Given the description of an element on the screen output the (x, y) to click on. 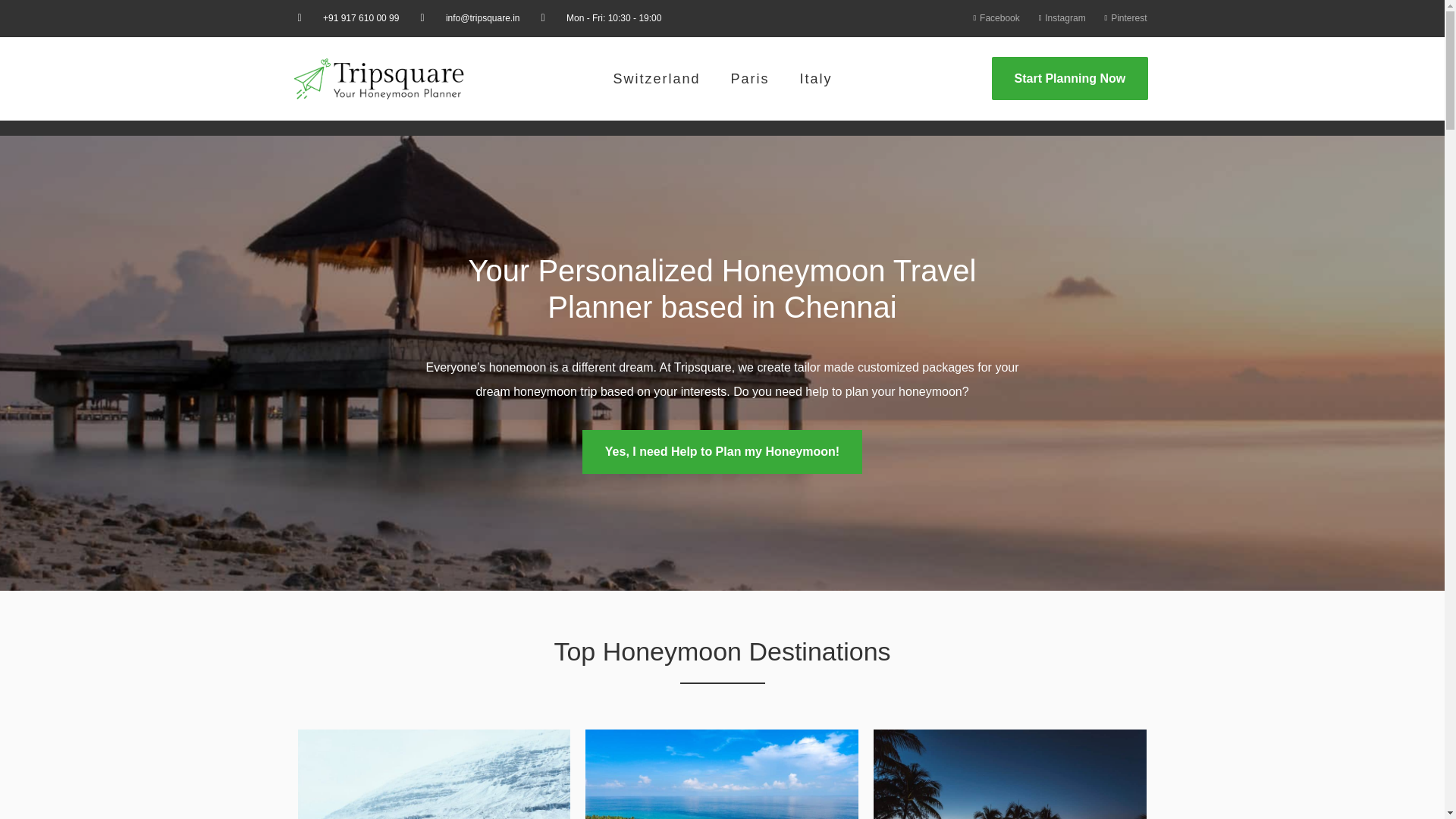
Italy (815, 78)
Yes, I need Help to Plan my Honeymoon! (721, 451)
Home 35 (1010, 774)
Paris (749, 78)
Start Planning Now (1069, 77)
Home 34 (722, 774)
Pinterest (1122, 18)
Switzerland (655, 78)
Facebook (993, 18)
Instagram (1059, 18)
Home 33 (433, 774)
